Given the description of an element on the screen output the (x, y) to click on. 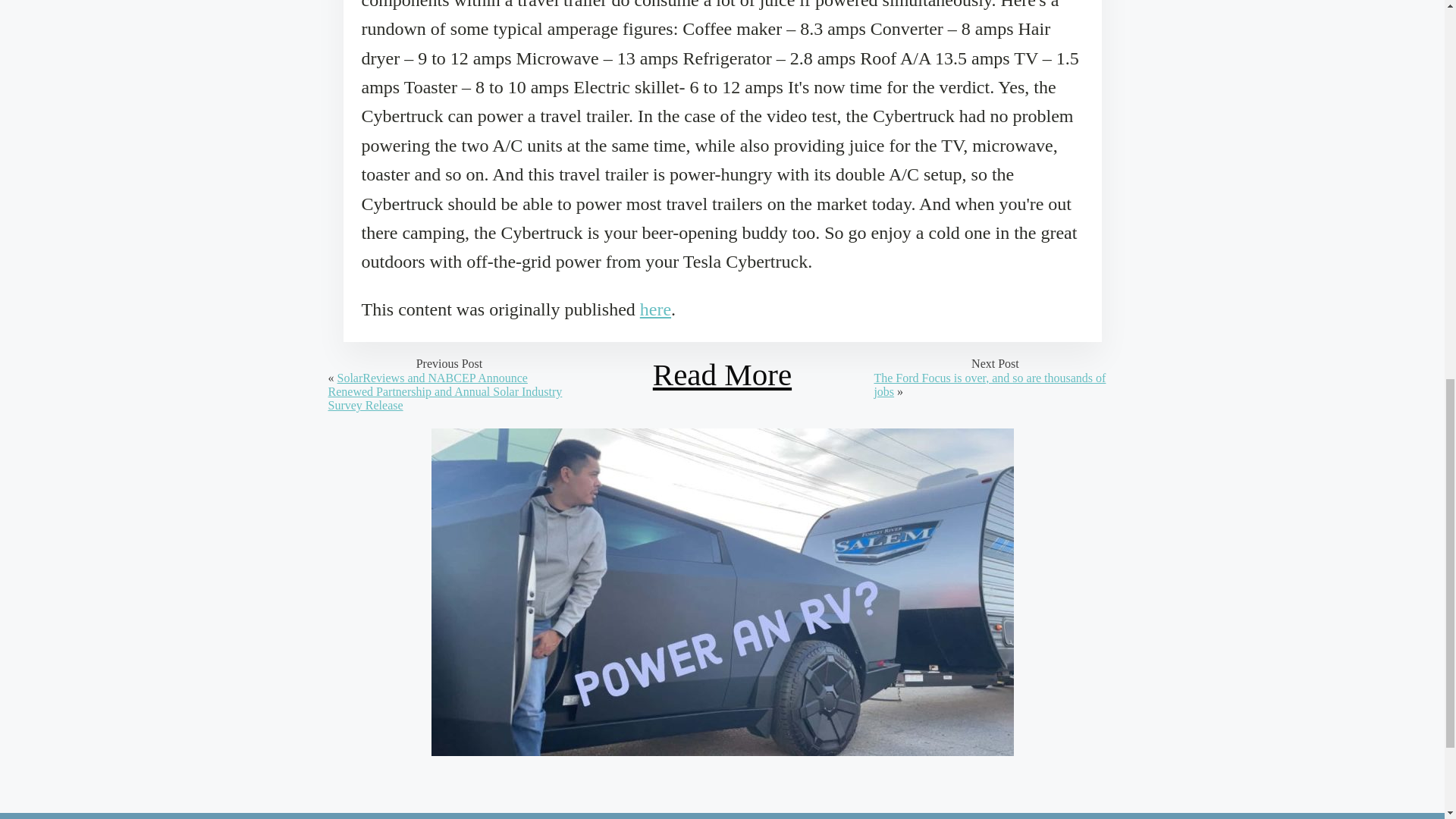
SHOP (478, 816)
BLOG (413, 816)
Read More (722, 375)
HOME (346, 816)
here (655, 309)
The Ford Focus is over, and so are thousands of jobs (989, 384)
